Given the description of an element on the screen output the (x, y) to click on. 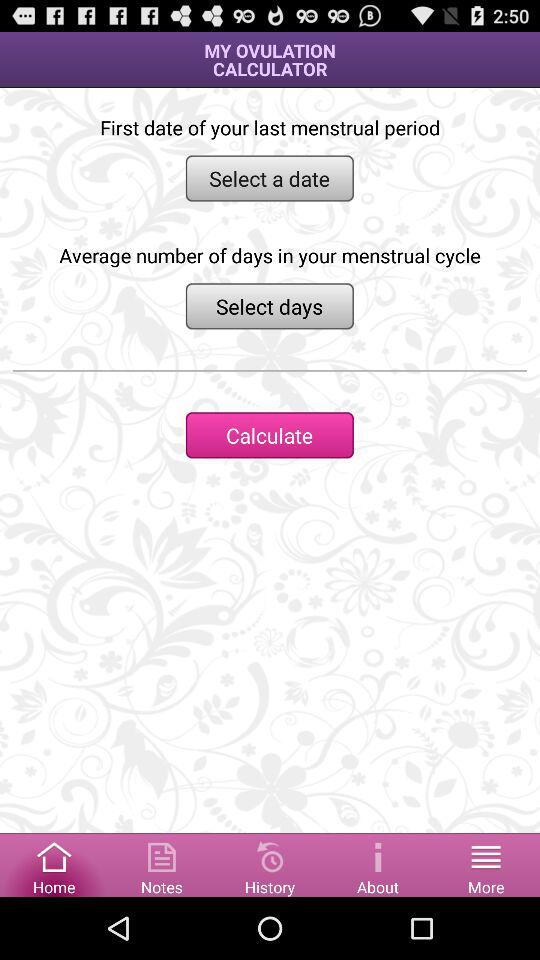
add a note (162, 864)
